Given the description of an element on the screen output the (x, y) to click on. 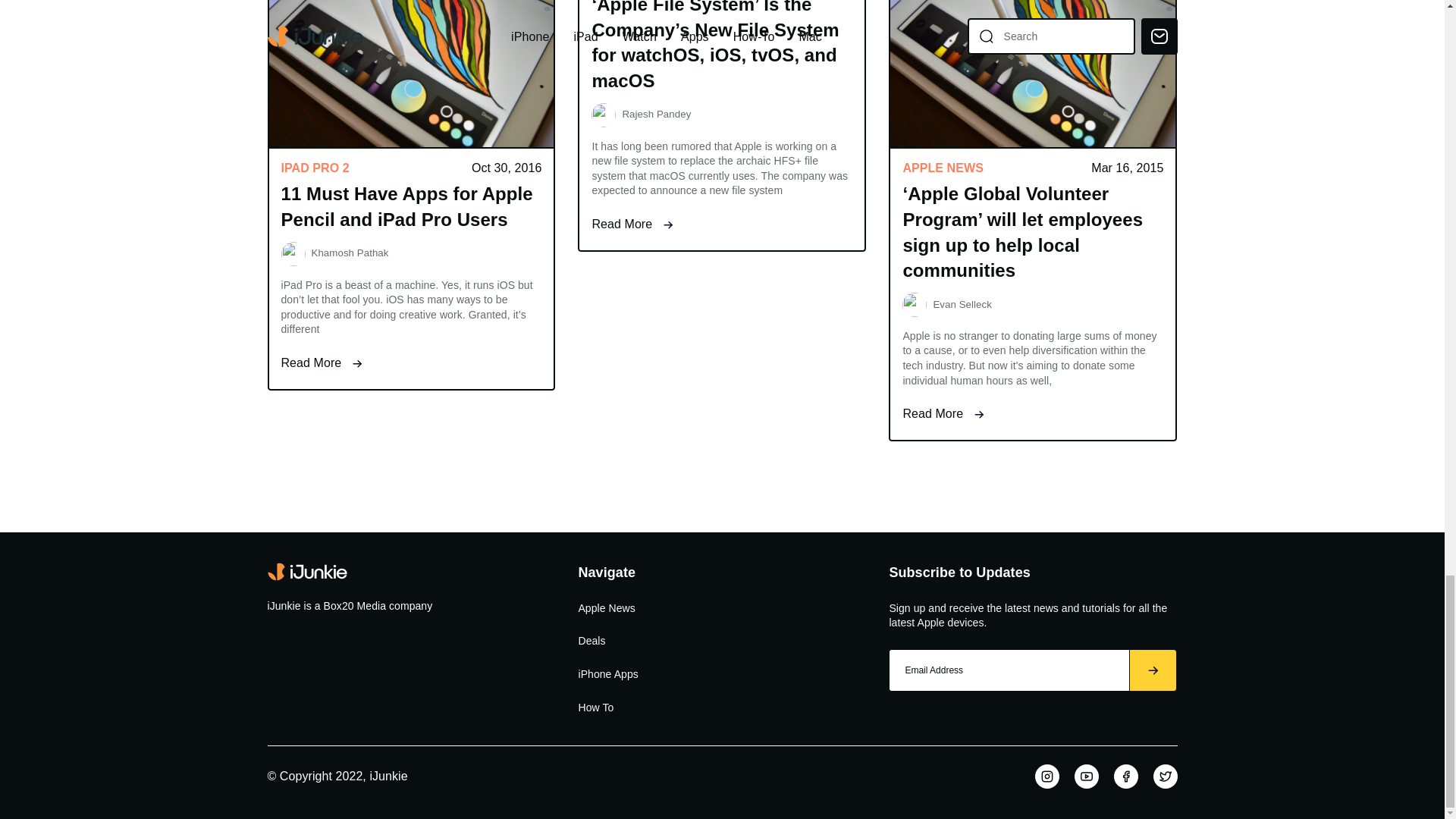
iPhone Apps (607, 674)
Apple News (606, 608)
How To (595, 707)
Deals (591, 641)
